Given the description of an element on the screen output the (x, y) to click on. 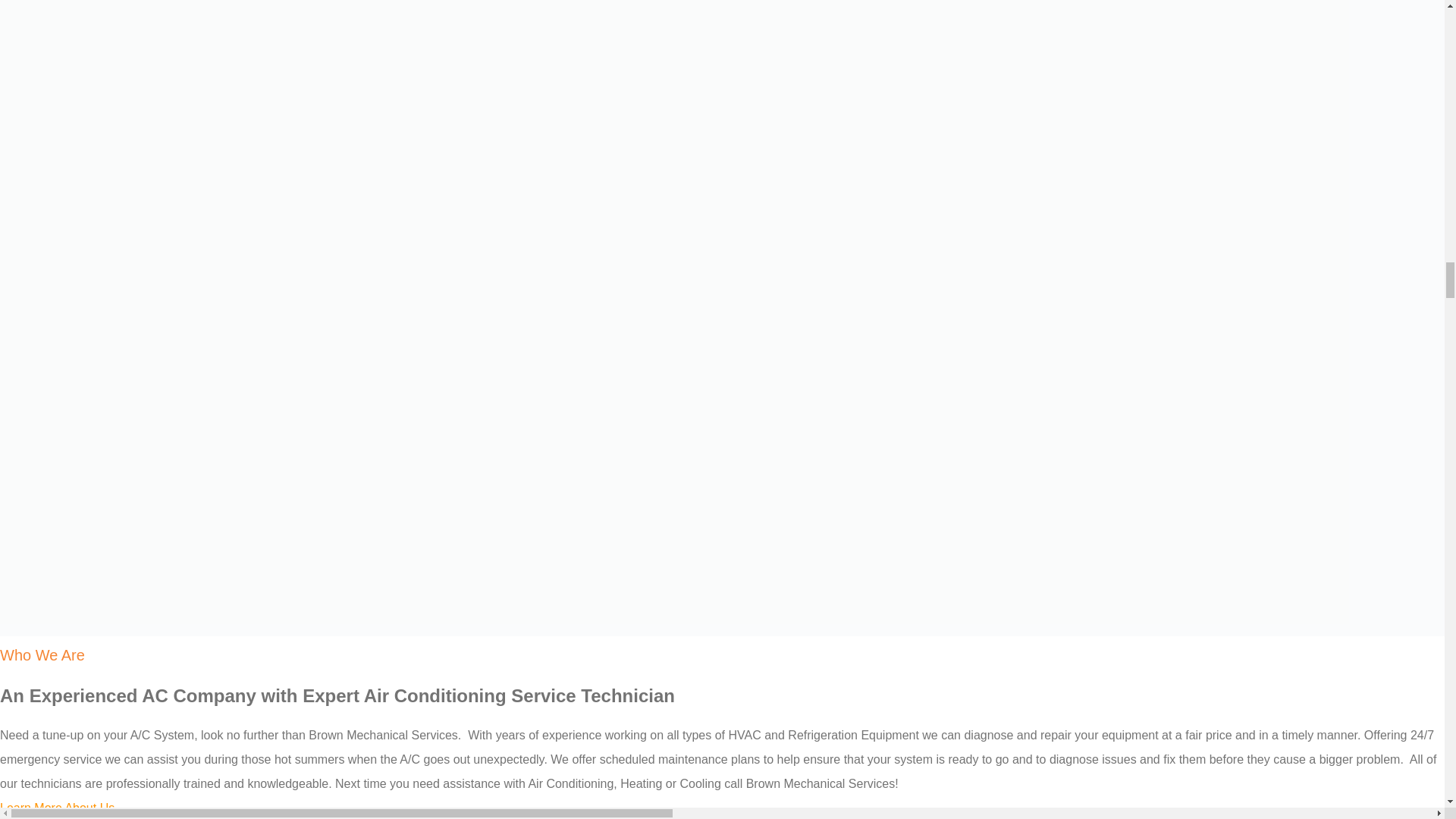
Learn More About Us (57, 807)
